Given the description of an element on the screen output the (x, y) to click on. 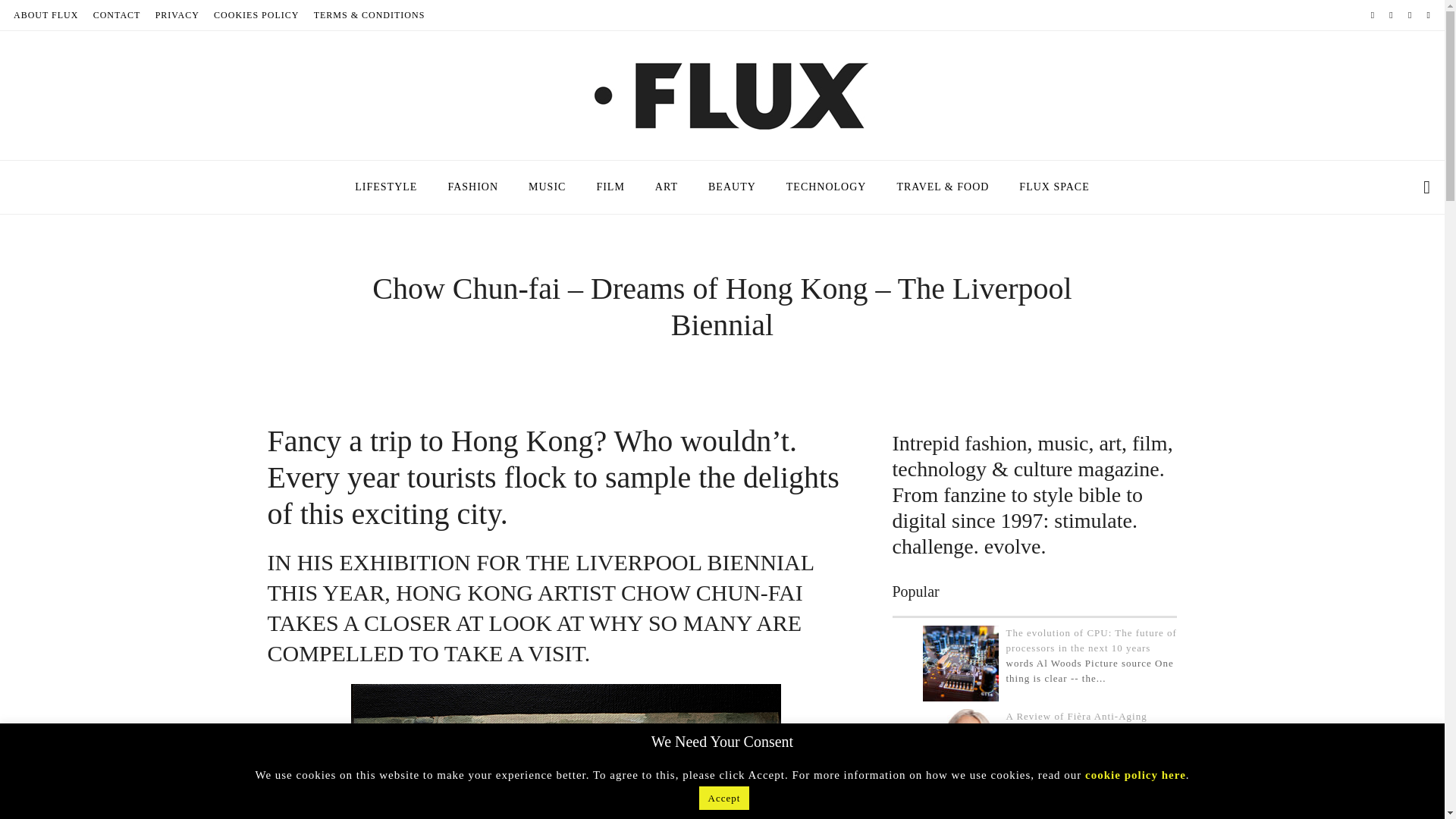
FILM (609, 186)
CONTACT (117, 15)
TECHNOLOGY (826, 186)
COOKIES POLICY (256, 15)
PRIVACY (177, 15)
ABOUT FLUX (45, 15)
BEAUTY (732, 186)
FASHION (472, 186)
LIFESTYLE (385, 186)
MUSIC (546, 186)
